Given the description of an element on the screen output the (x, y) to click on. 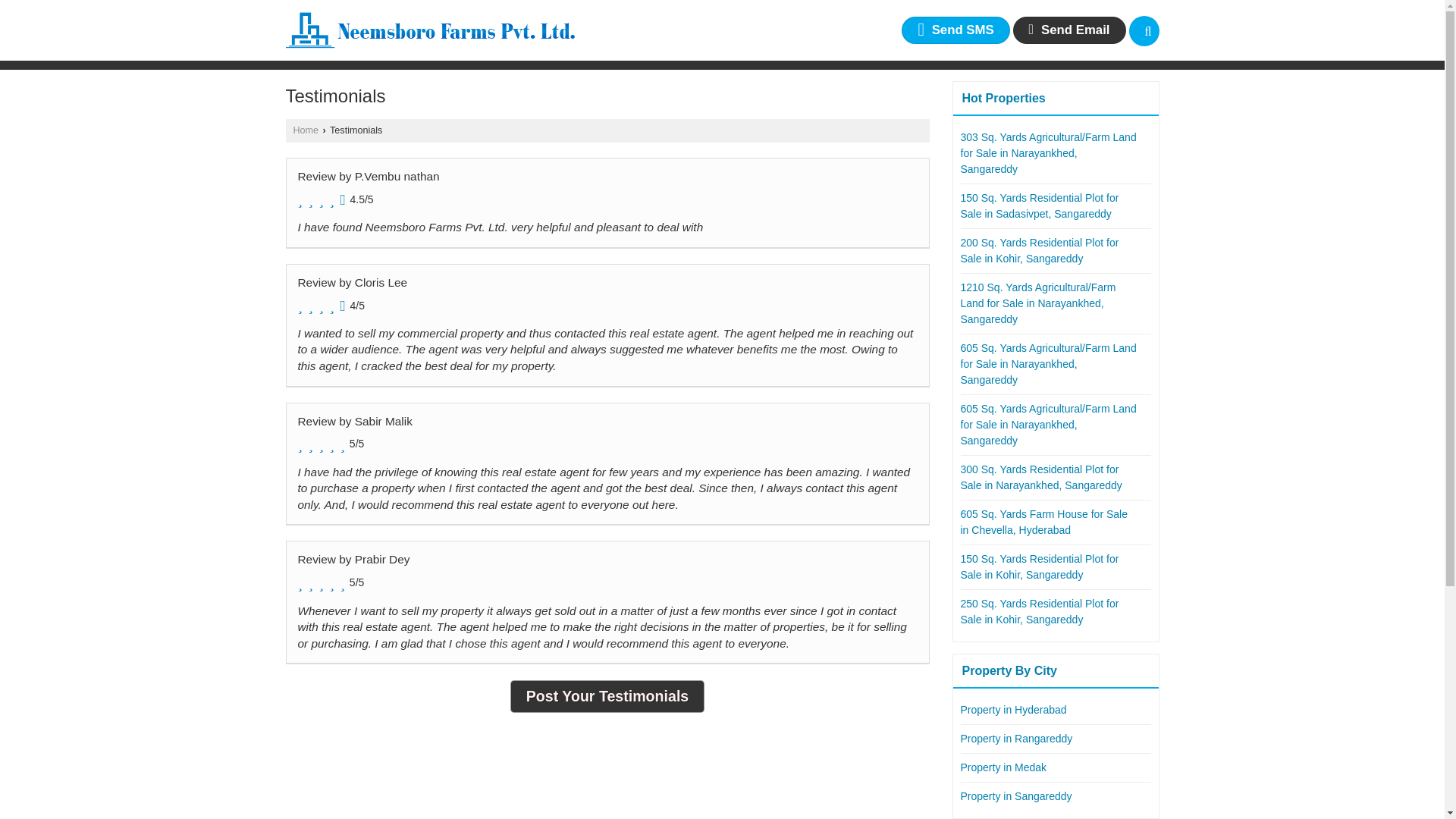
Home (305, 130)
Send Email (1069, 30)
Send SMS (955, 30)
Neemsboro Farms Pvt. Ltd. (429, 30)
Search (1143, 30)
